Given the description of an element on the screen output the (x, y) to click on. 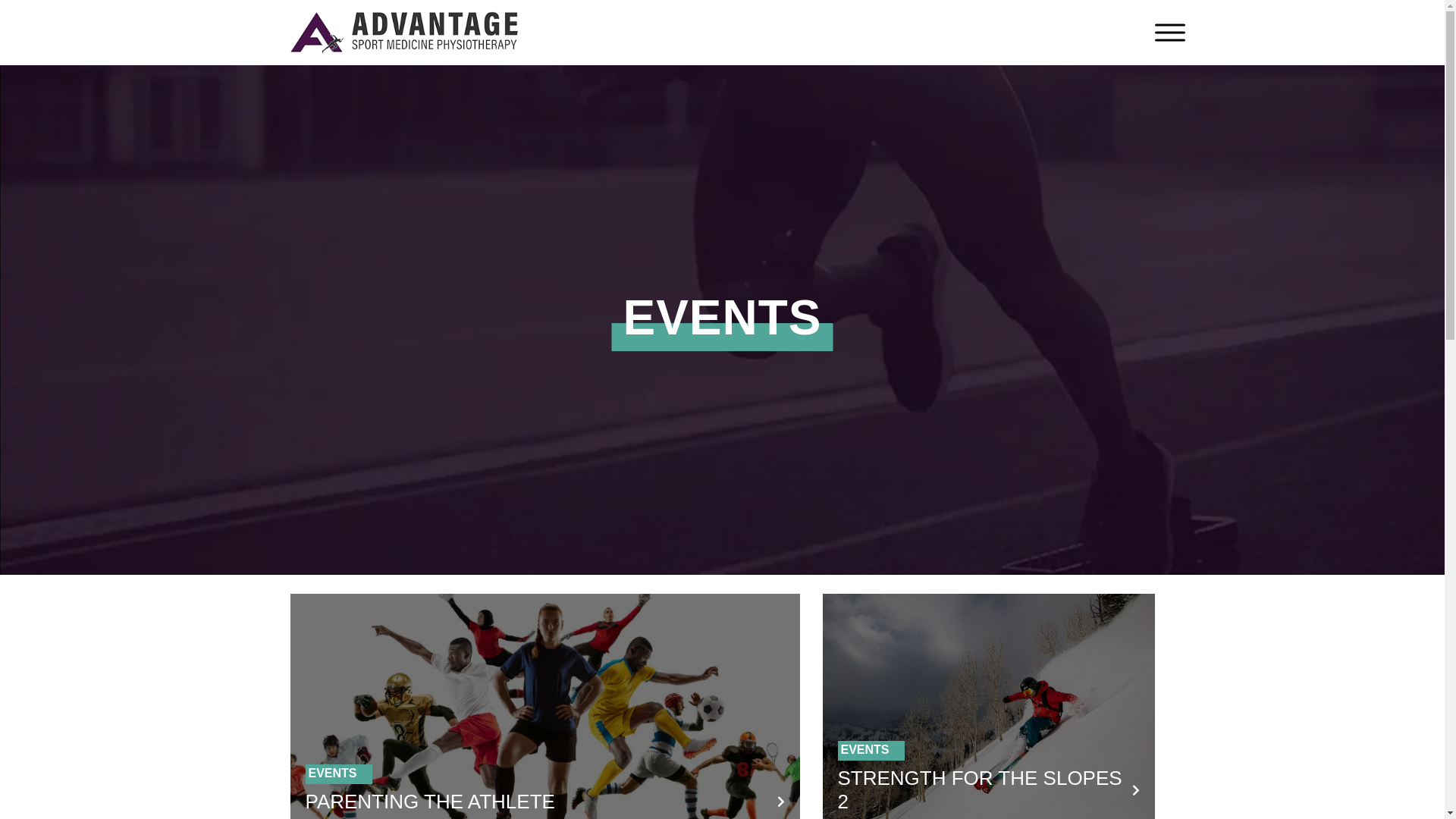
EVENTS Element type: text (864, 749)
PARENTING THE ATHLETE Element type: text (429, 801)
STRENGTH FOR THE SLOPES 2 Element type: text (979, 789)
EVENTS Element type: text (331, 772)
